Given the description of an element on the screen output the (x, y) to click on. 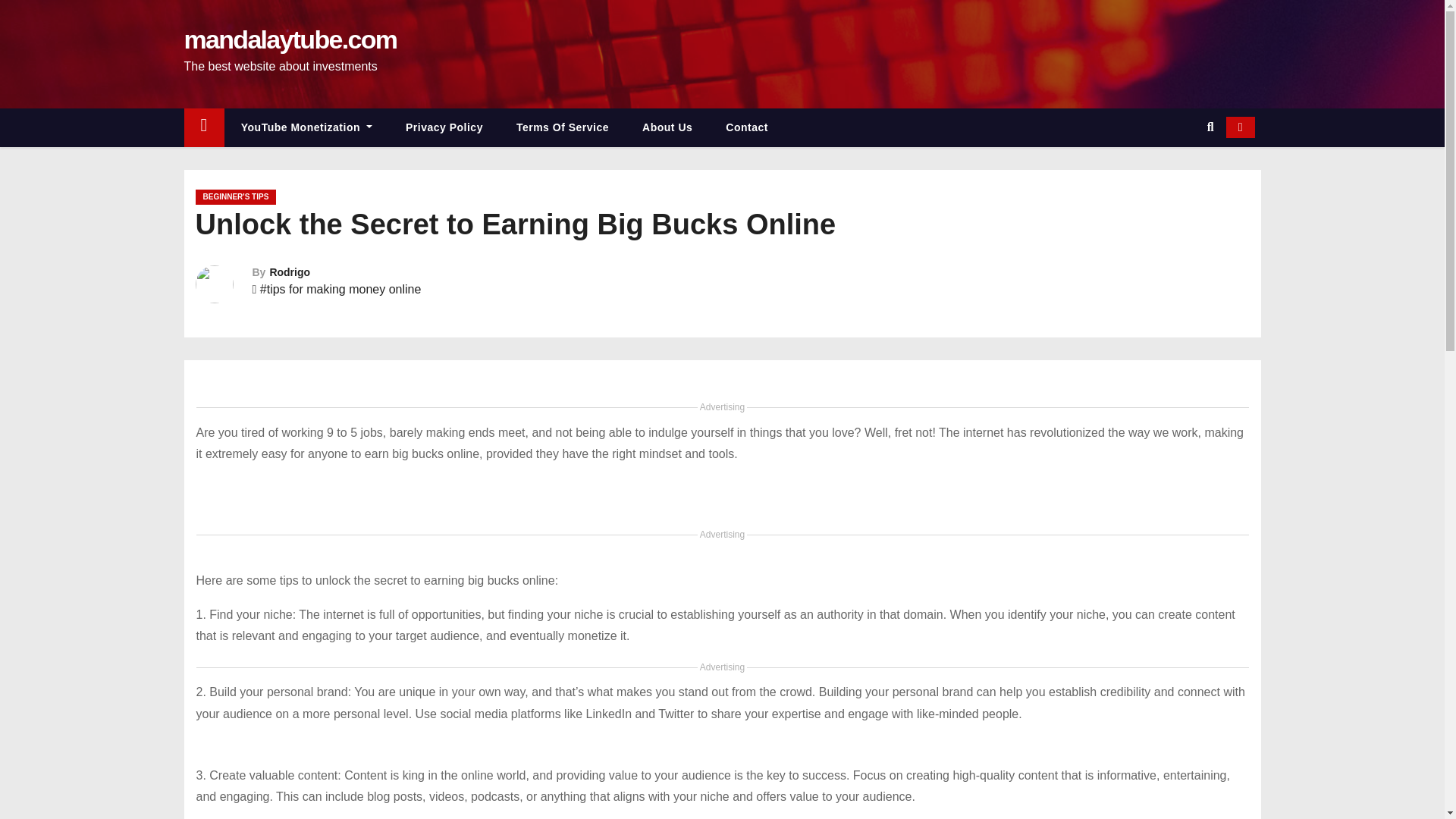
Privacy Policy (443, 127)
Rodrigo (289, 272)
YouTube Monetization (306, 127)
About Us (667, 127)
Privacy Policy (443, 127)
YouTube Monetization (306, 127)
Home (203, 127)
Contact (746, 127)
Contact (746, 127)
mandalaytube.com (289, 39)
